Given the description of an element on the screen output the (x, y) to click on. 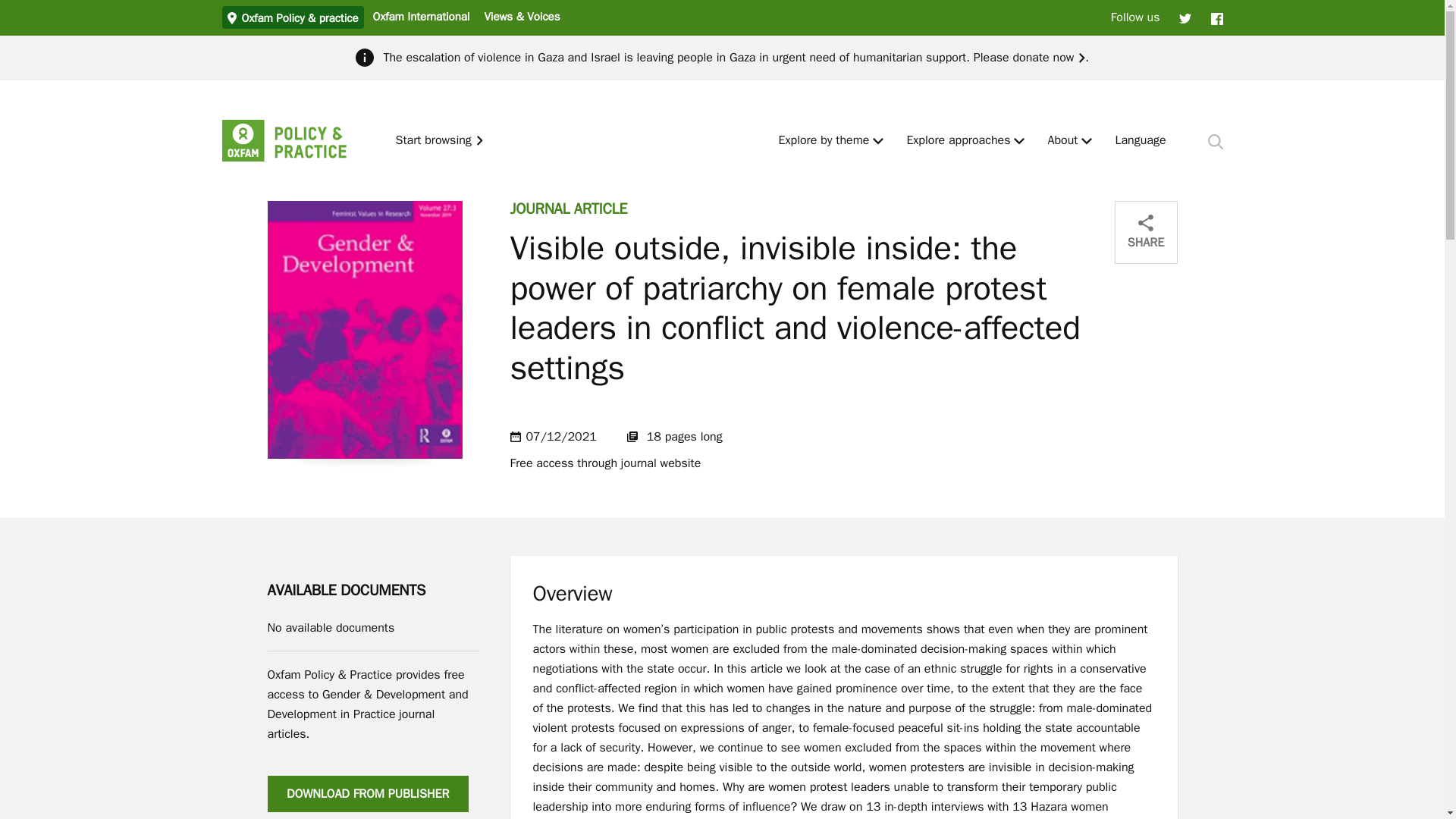
Search (1215, 140)
Explore approaches (957, 140)
Menu toggle (877, 141)
English (1140, 140)
About (1061, 140)
Menu toggle (1019, 141)
Facebook (1216, 17)
donate now (1047, 57)
Twitter (1184, 17)
Download from publisher (366, 793)
Skip to content (11, 5)
Menu toggle (1086, 141)
Explore by theme (823, 140)
Oxfam International (420, 16)
Start browsing (439, 140)
